Given the description of an element on the screen output the (x, y) to click on. 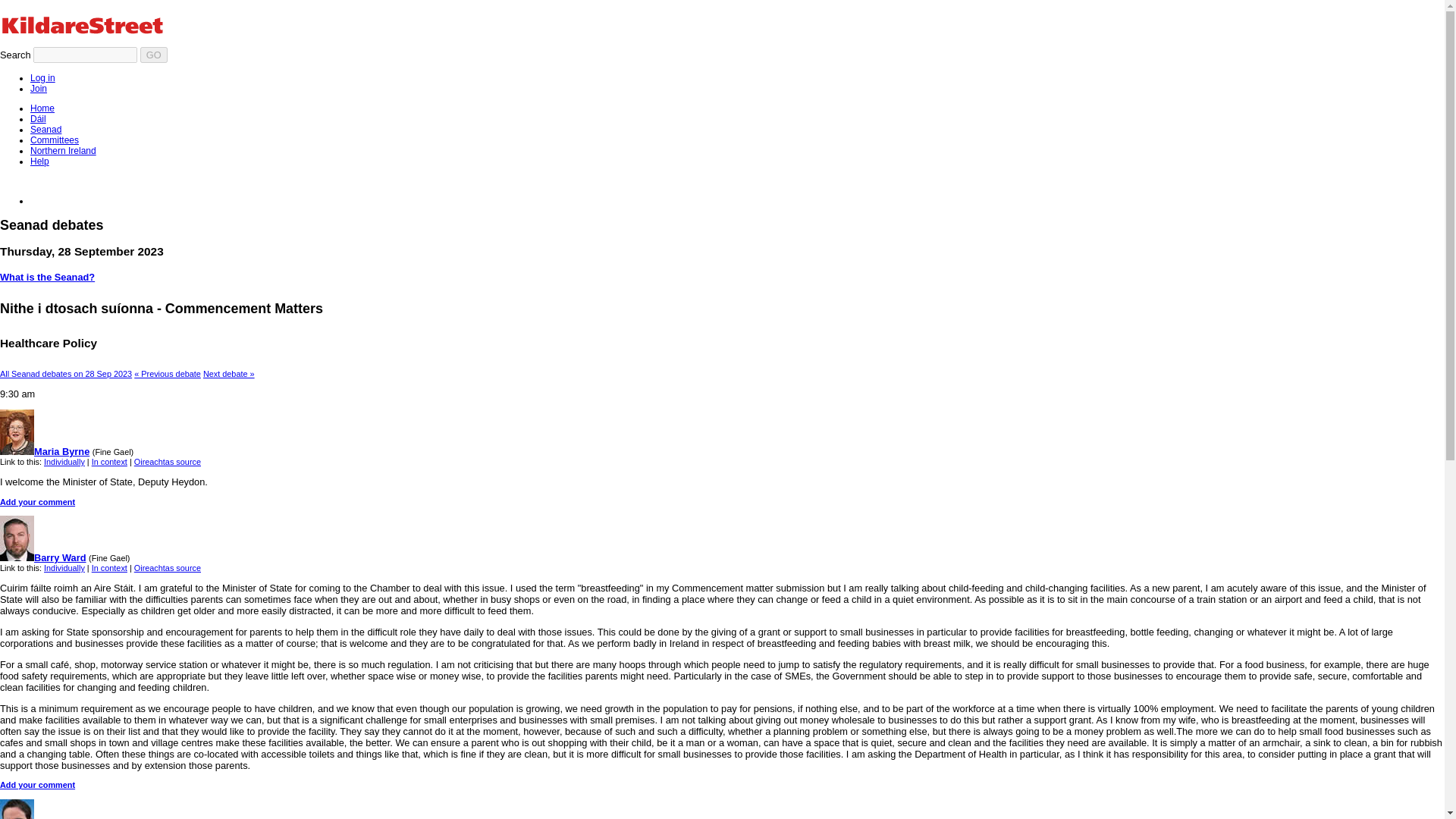
Oireachtas source (166, 567)
GO (153, 54)
Add your comment (37, 784)
See more information about Maria Byrne (44, 451)
Comment on this (37, 784)
In context (109, 461)
Help (39, 161)
Wastewater Treatment (228, 373)
Individually (63, 567)
Join (38, 88)
